Given the description of an element on the screen output the (x, y) to click on. 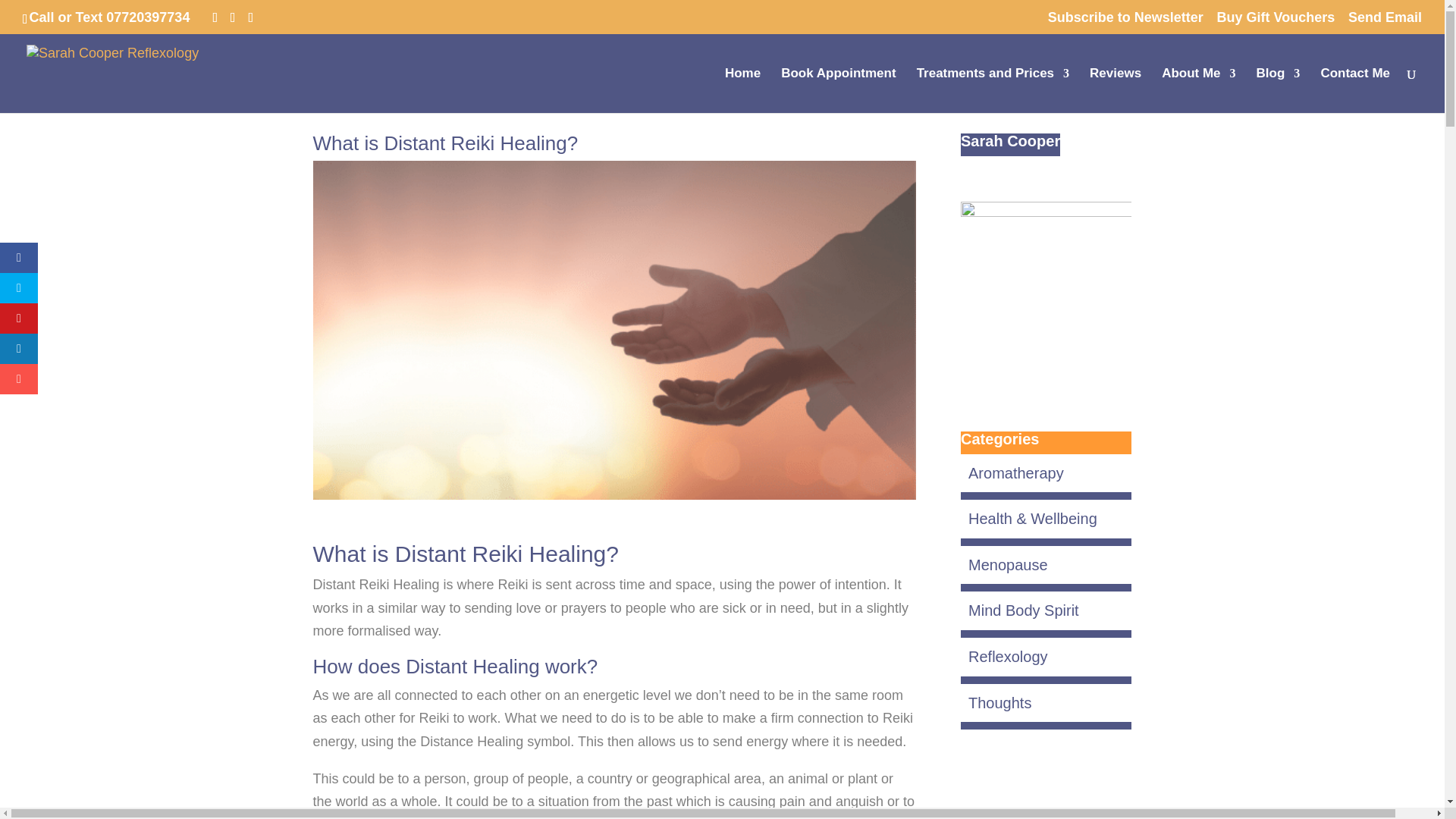
About Me (1197, 90)
Treatments and Prices (992, 90)
Send Email (1385, 22)
Blog (1278, 90)
Book Appointment (837, 90)
Subscribe to Newsletter (1126, 22)
Reviews (1115, 90)
Contact Me (1355, 90)
Buy Gift Vouchers (1275, 22)
